Given the description of an element on the screen output the (x, y) to click on. 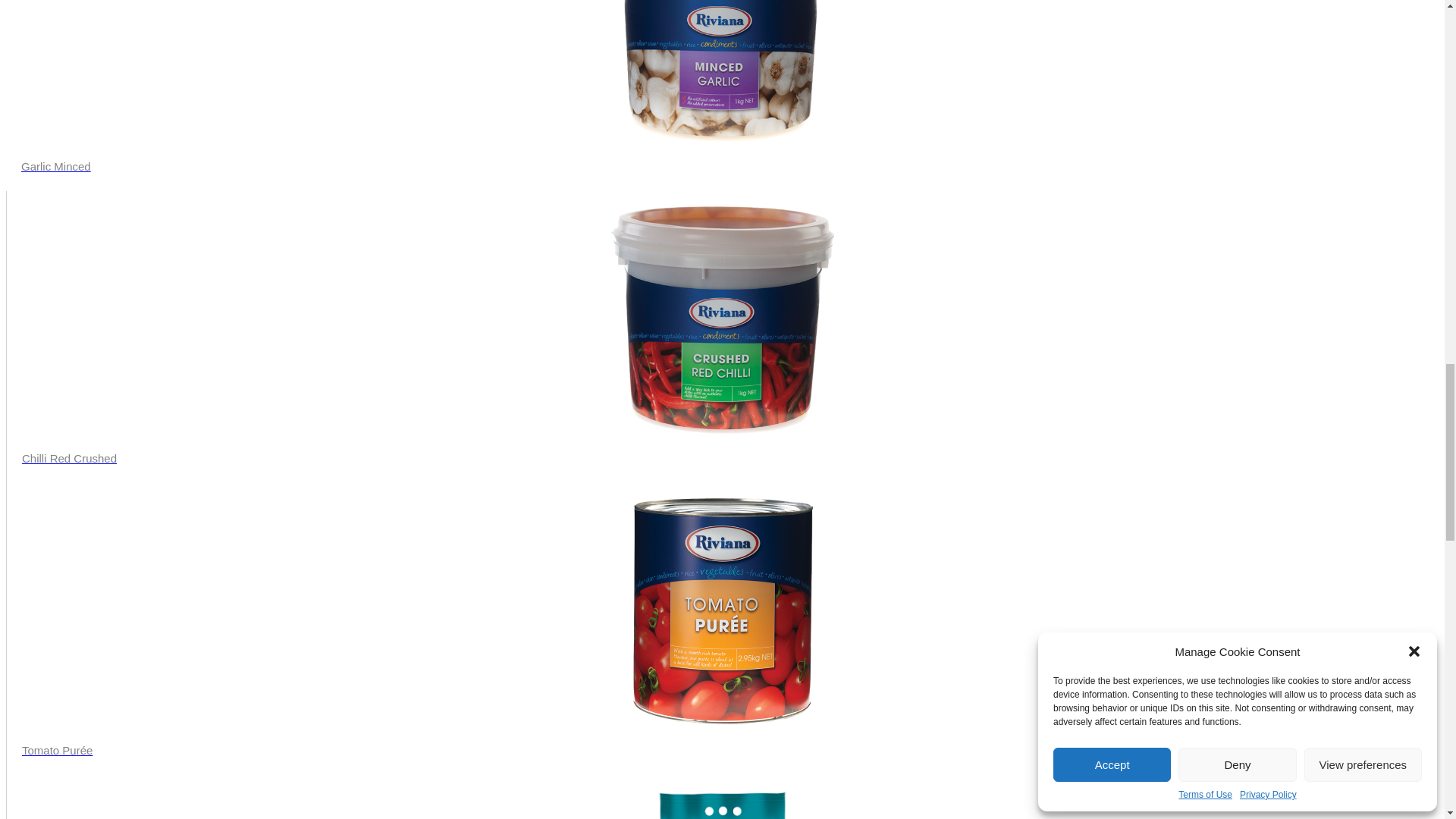
Rice Arborio (722, 804)
Rice Arborio (722, 804)
